Given the description of an element on the screen output the (x, y) to click on. 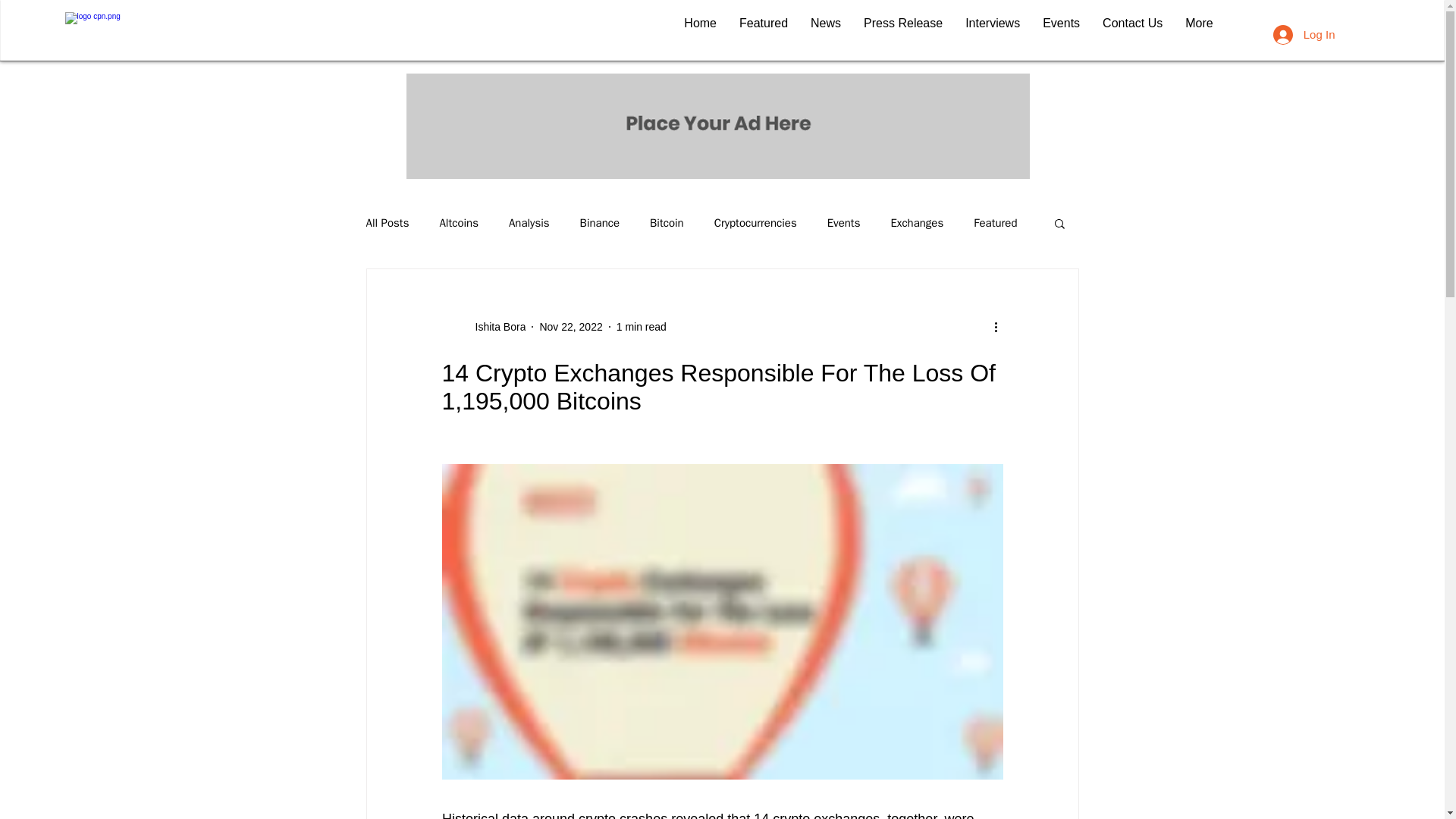
Ishita Bora (483, 326)
Contact Us (1131, 34)
Ishita Bora (495, 326)
Analysis (529, 222)
News (825, 34)
Events (1060, 34)
Log In (1303, 33)
Altcoins (459, 222)
Press Release (902, 34)
Exchanges (916, 222)
